Given the description of an element on the screen output the (x, y) to click on. 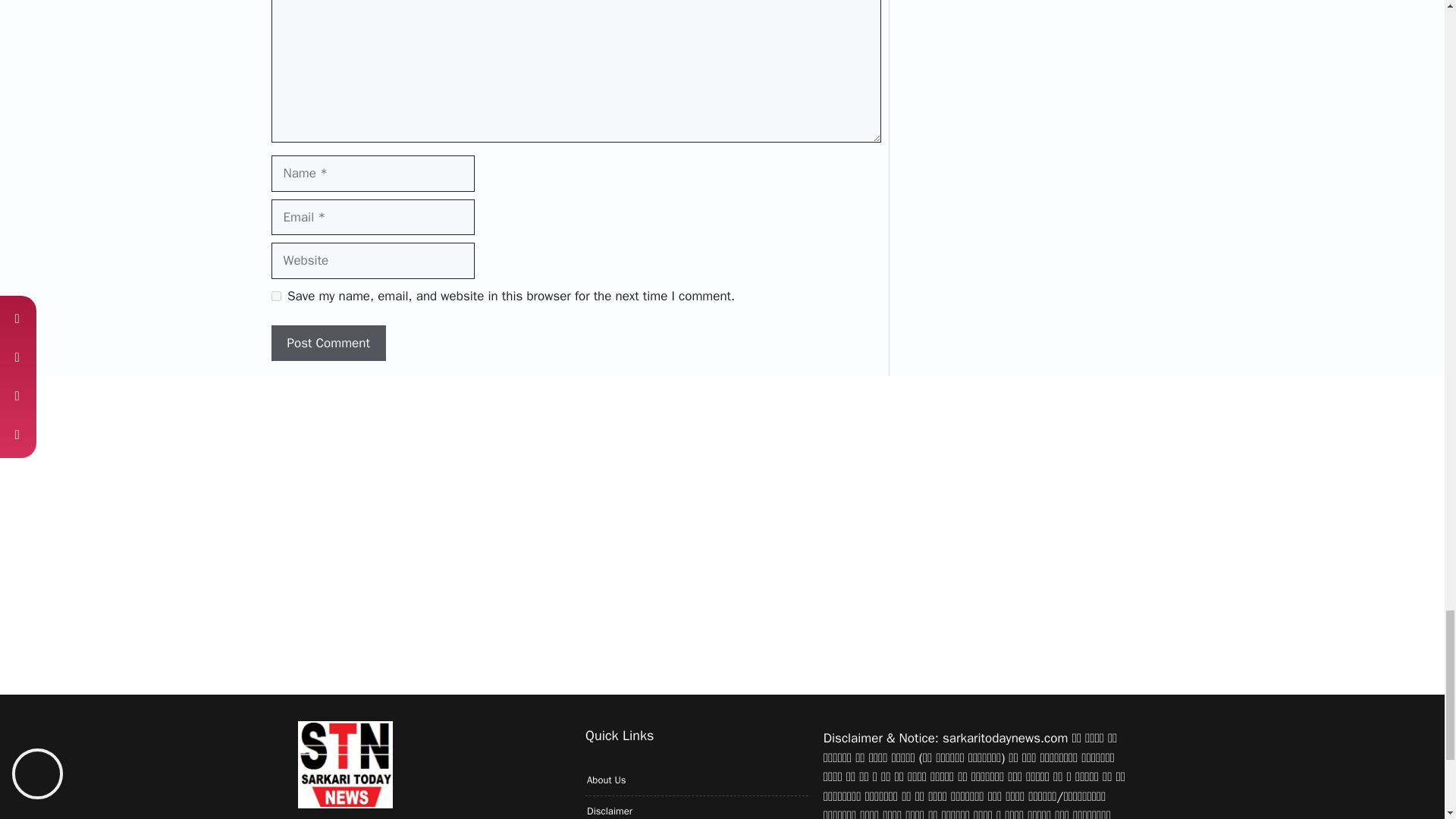
Post Comment (327, 343)
yes (275, 296)
